Given the description of an element on the screen output the (x, y) to click on. 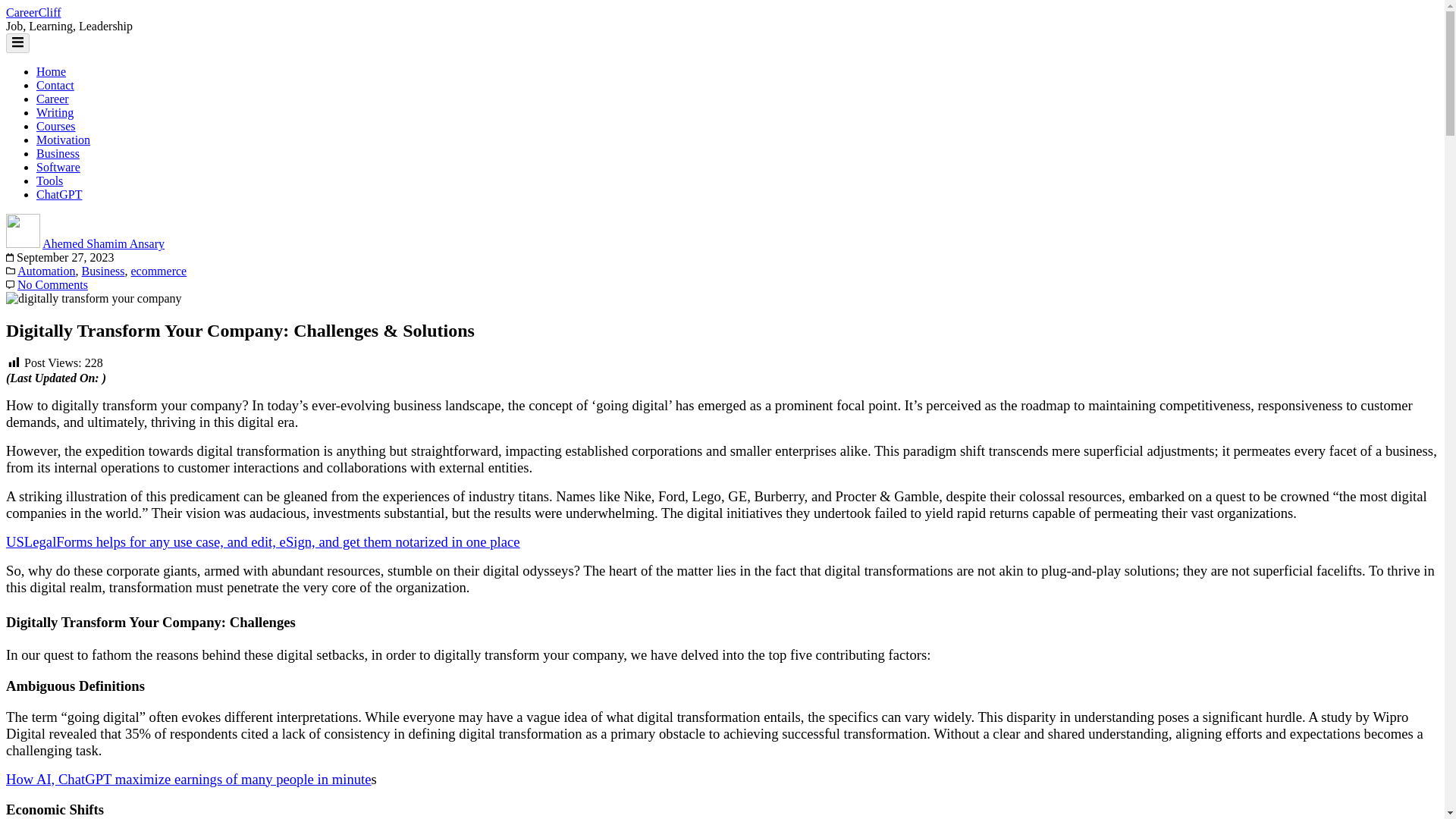
Software (58, 166)
No Comments (52, 284)
Career (52, 98)
Ahemed Shamim Ansary (103, 243)
Contact (55, 84)
Writing (55, 112)
Motivation (63, 139)
Automation (46, 270)
CareerCliff (33, 11)
Tools (49, 180)
Home (50, 71)
Business (103, 270)
How AI, ChatGPT maximize earnings of many people in minute (188, 779)
Business (58, 153)
